Given the description of an element on the screen output the (x, y) to click on. 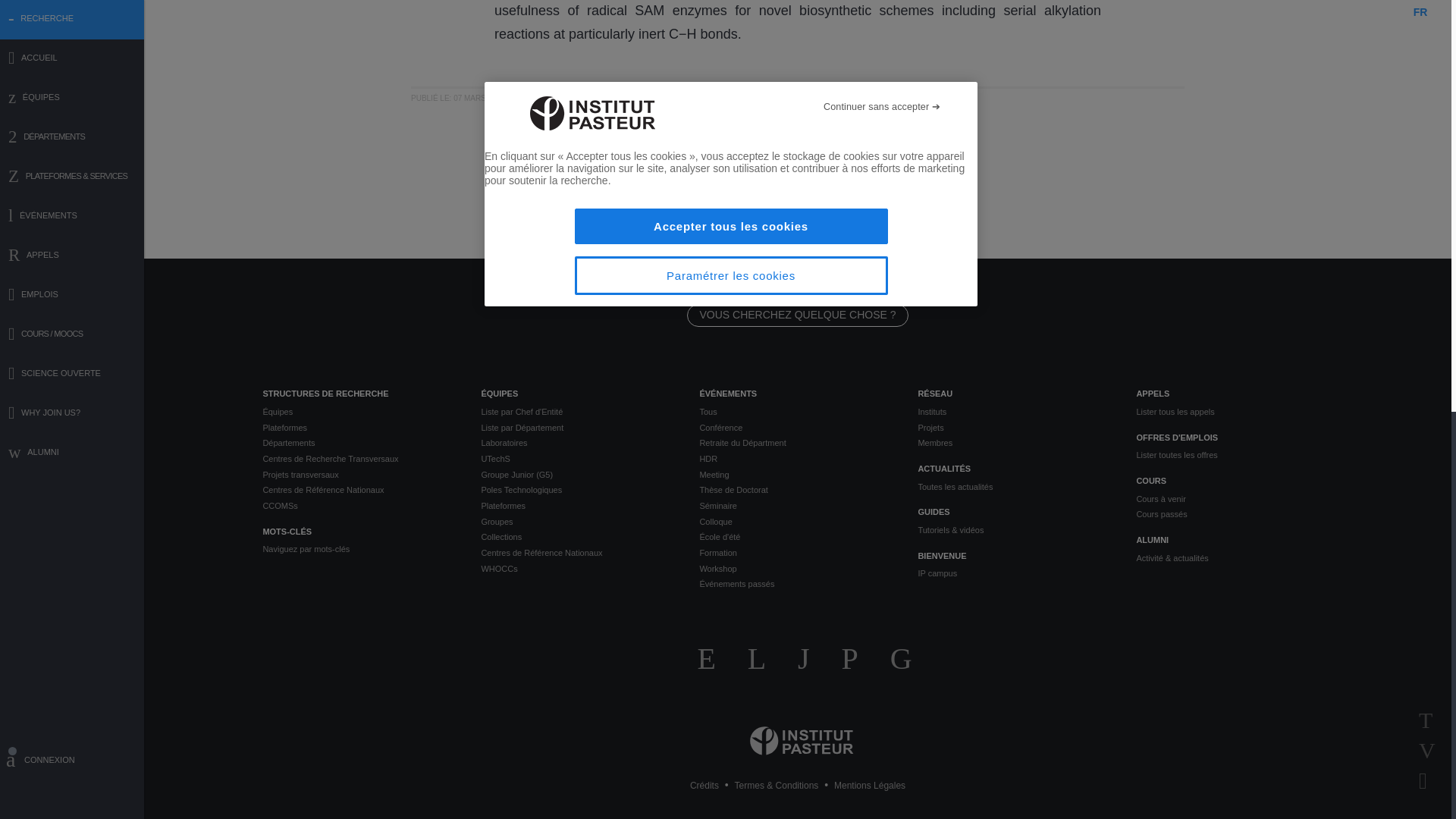
Plateformes (360, 427)
